Given the description of an element on the screen output the (x, y) to click on. 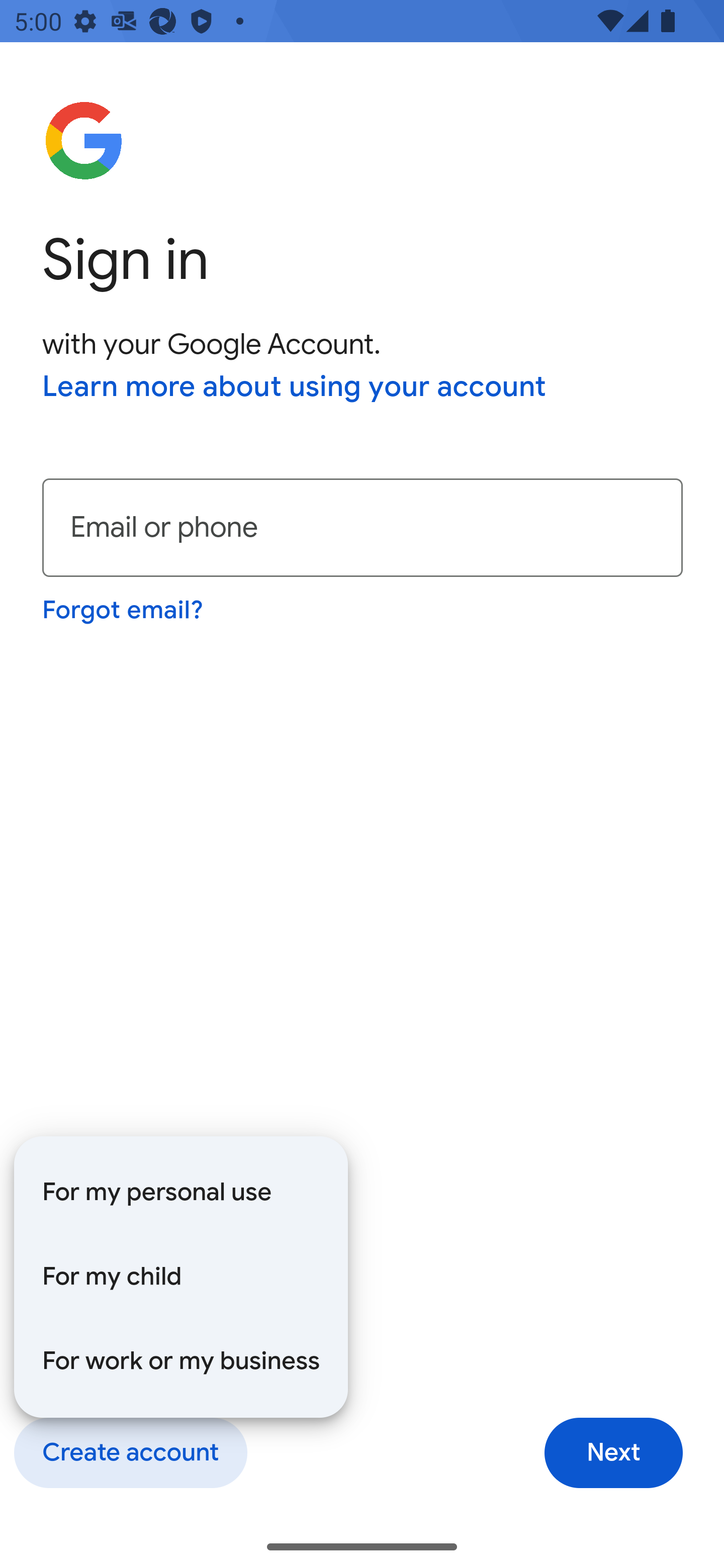
Learn more about using your account (294, 388)
Forgot email? (123, 609)
Next (613, 1453)
Create account (129, 1453)
